Given the description of an element on the screen output the (x, y) to click on. 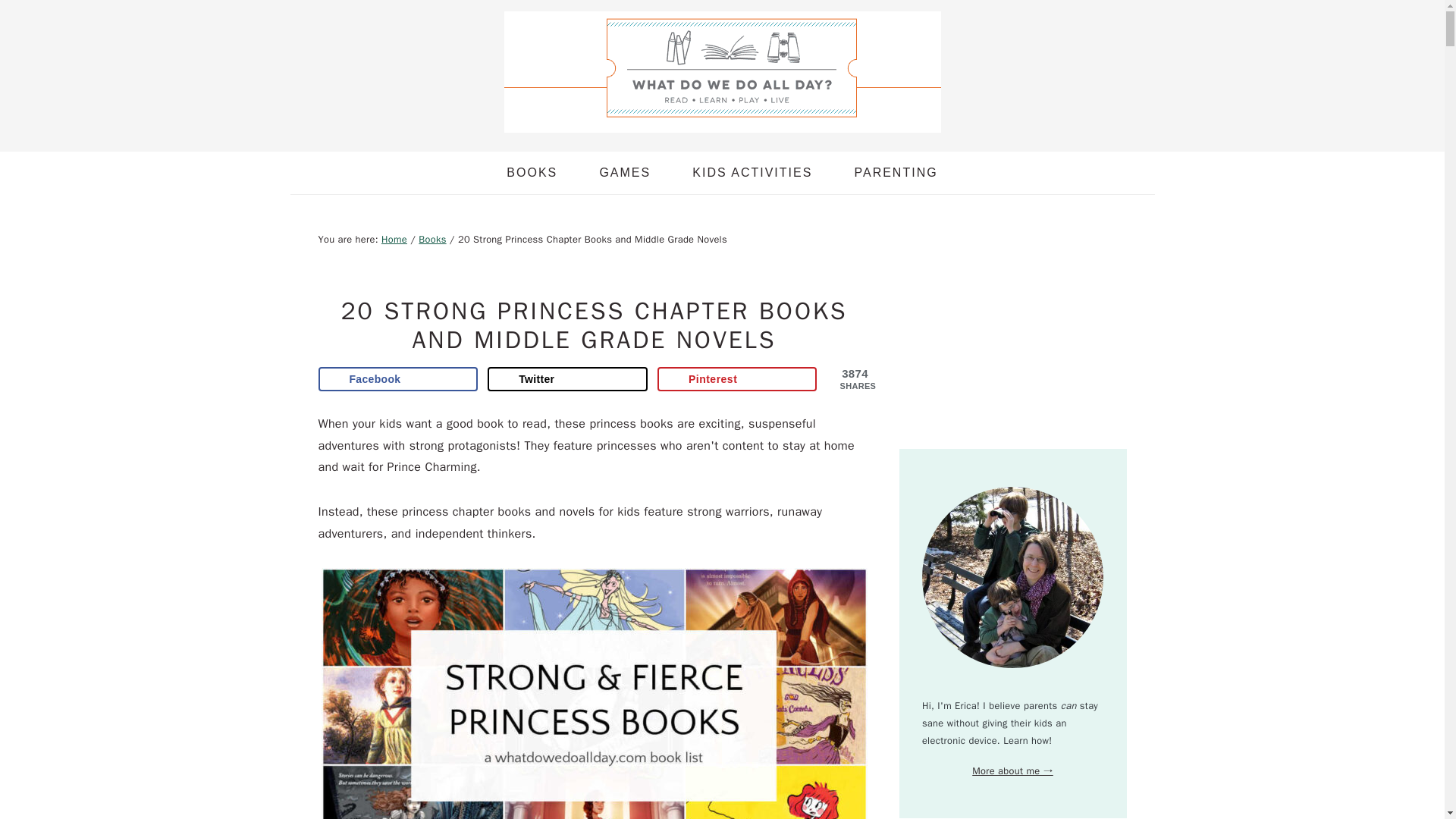
Share on Facebook (398, 378)
KIDS ACTIVITIES (751, 172)
Home (394, 239)
PARENTING (895, 172)
BOOKS (531, 172)
Books (432, 239)
Save to Pinterest (737, 378)
Share on X (567, 378)
What Do We Do All Day (721, 71)
